Given the description of an element on the screen output the (x, y) to click on. 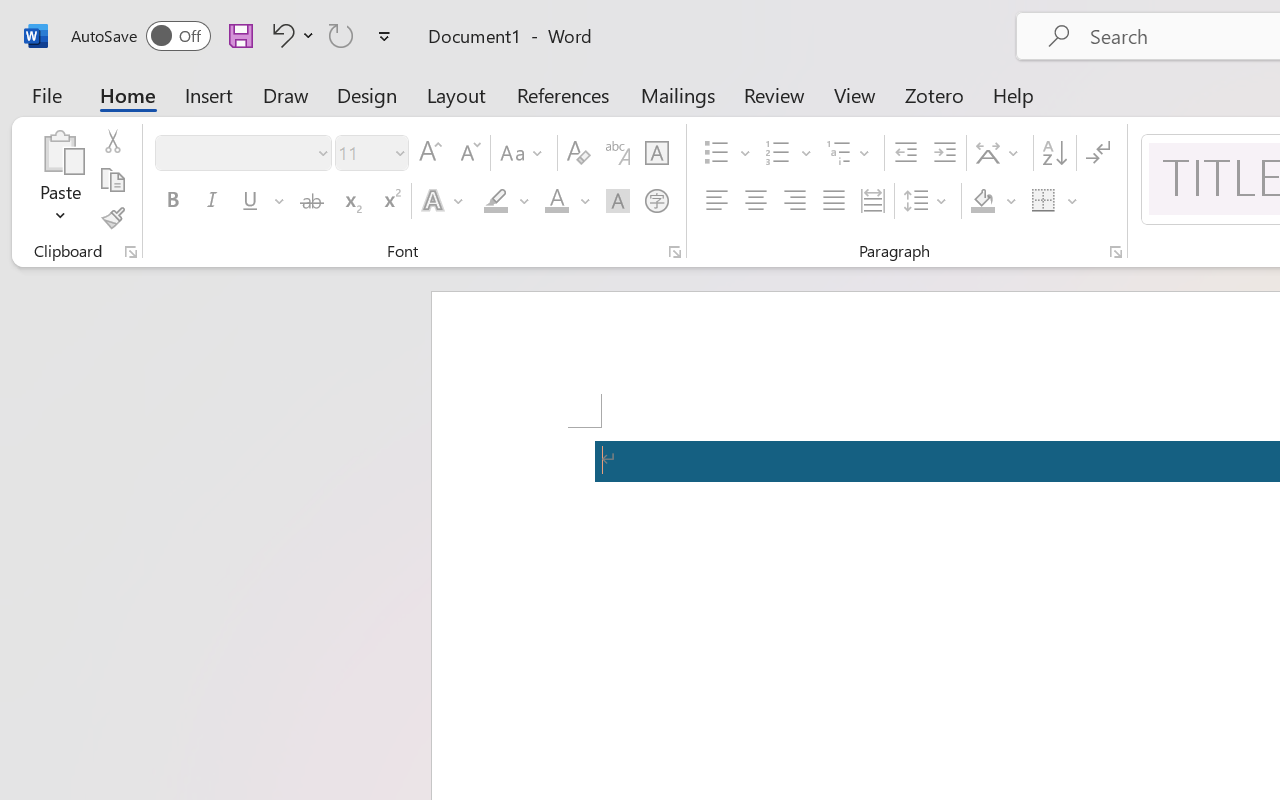
Repeat Accessibility Checker (341, 35)
Undo Apply Quick Style Set (290, 35)
Text Highlight Color RGB(255, 255, 0) (495, 201)
Shading No Color (982, 201)
